Given the description of an element on the screen output the (x, y) to click on. 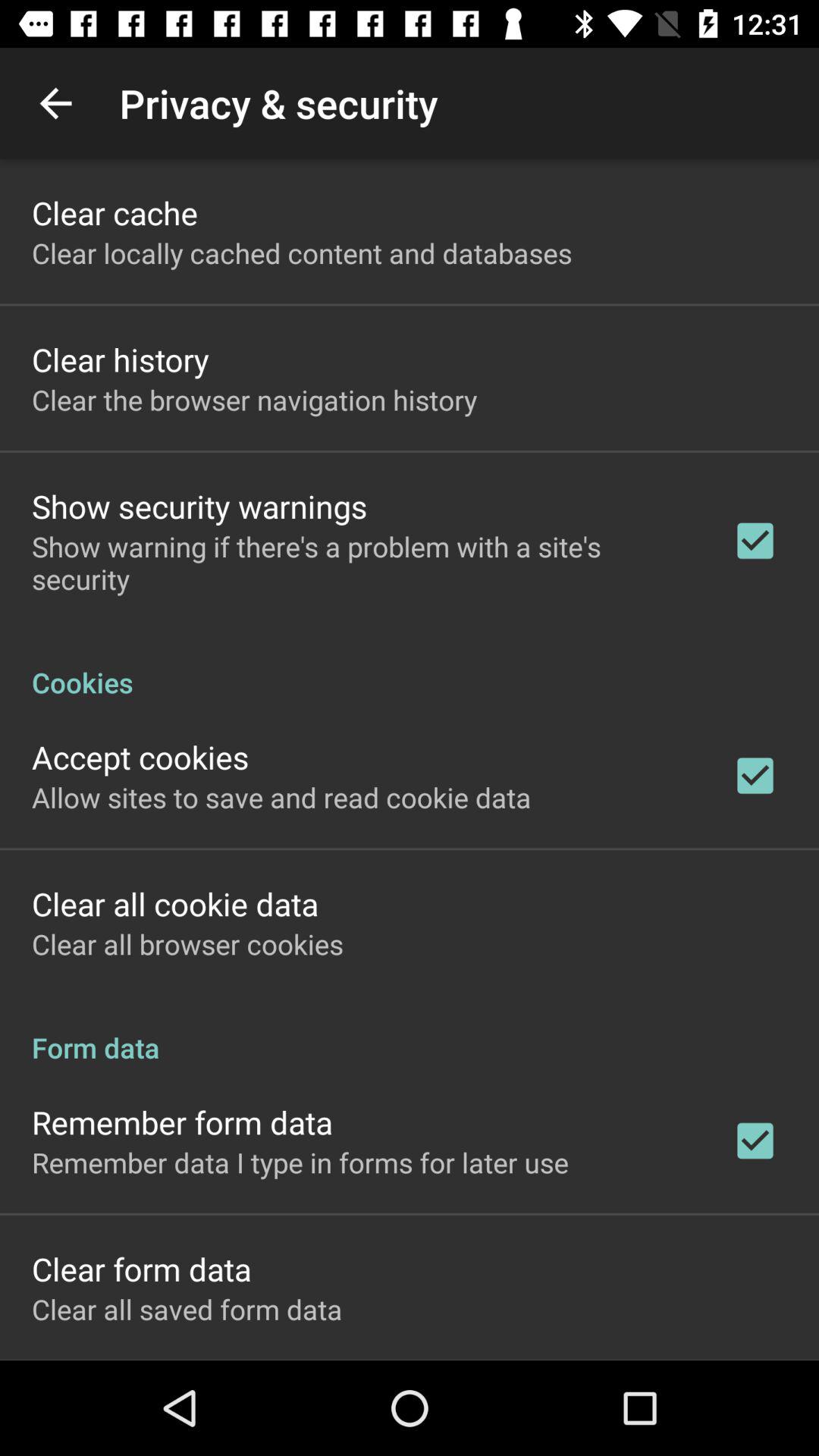
flip to the show warning if app (361, 562)
